Given the description of an element on the screen output the (x, y) to click on. 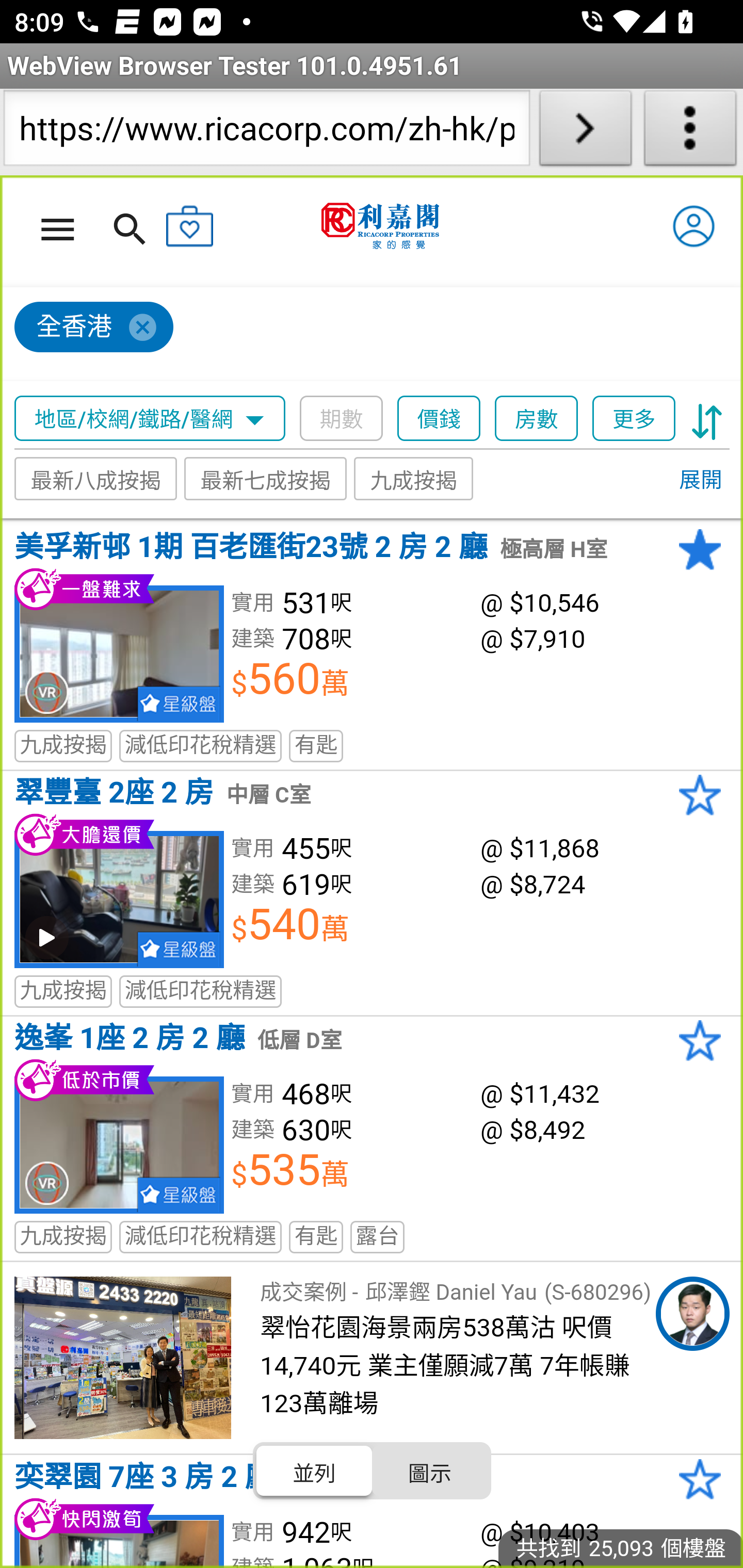
https://www.ricacorp.com/zh-hk/property/list/buy (266, 132)
Load URL (585, 132)
About WebView (690, 132)
全香港 (94, 327)
地區/校網/鐵路/醫網 (150, 418)
期數 (341, 418)
價錢 (439, 418)
房數 (536, 418)
更多 (634, 418)
sort (706, 418)
最新八成按揭 (96, 478)
最新七成按揭 (266, 478)
九成按揭 (413, 478)
展開 (699, 481)
Daniel Yau (692, 1313)
並列 (314, 1470)
圖示 (429, 1470)
